Given the description of an element on the screen output the (x, y) to click on. 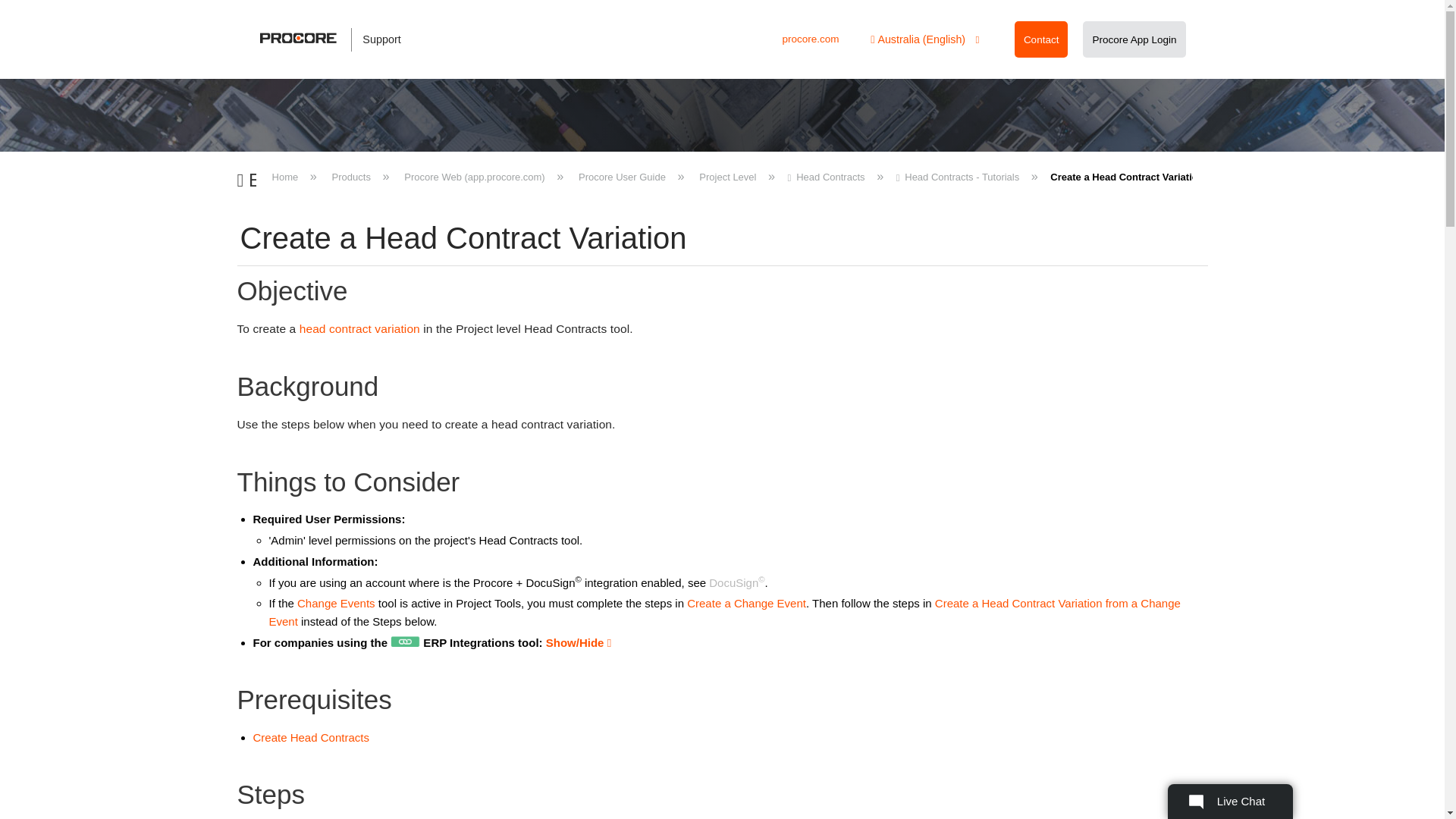
Glossary of Terms (359, 328)
Support (338, 38)
Create a Change Event (746, 603)
Head Contracts - Tutorials (959, 176)
Create Head Contracts (327, 737)
Project Level (727, 176)
Live Chat (1229, 801)
Create Head Contracts (269, 737)
procore.com (809, 39)
Create a HCV from a Change Event (723, 612)
